Given the description of an element on the screen output the (x, y) to click on. 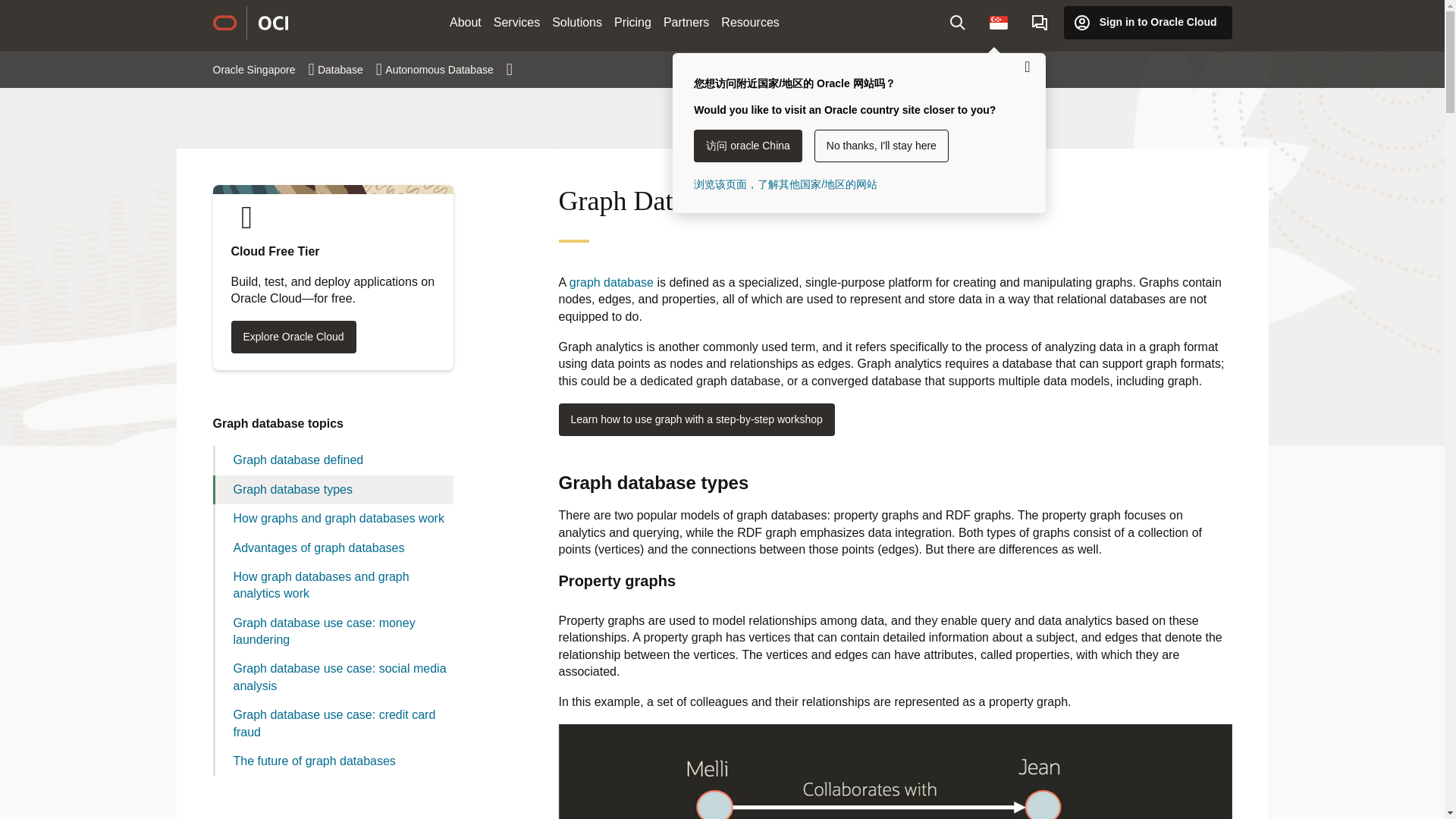
How graph databases and graph analytics work (332, 585)
Partners (686, 22)
Services (516, 22)
Graph database use case: money laundering (332, 632)
Pricing (633, 22)
Database (349, 69)
How graphs and graph databases work (332, 518)
Close (1027, 67)
Explore Oracle Cloud (292, 336)
Contact (1040, 22)
Country (997, 22)
Oracle Singapore (263, 69)
Graph database use case: social media analysis (332, 677)
Graph database defined (332, 460)
Solutions (577, 22)
